Given the description of an element on the screen output the (x, y) to click on. 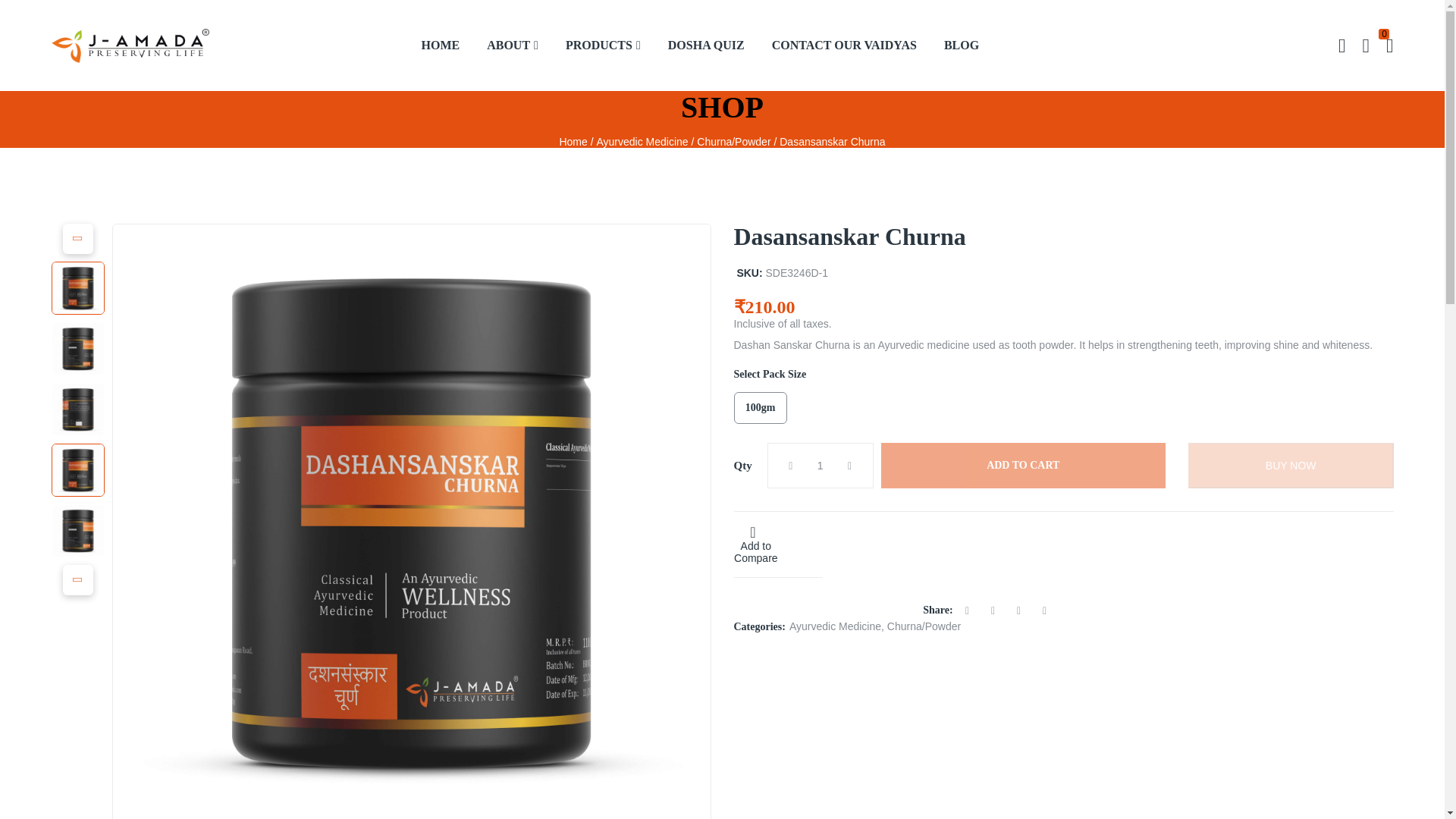
My Account (1365, 45)
1 (819, 465)
CONTACT OUR VAIDYAS (844, 45)
Exclusive Mockups for Branding and Packaging Design (77, 348)
Search (1342, 45)
Exclusive Mockups for Branding and Packaging Design (77, 287)
PRODUCTS (602, 45)
Exclusive Mockups for Branding and Packaging Design (77, 409)
DOSHA QUIZ (705, 45)
Exclusive Mockups for Branding and Packaging Design (77, 530)
Exclusive Mockups for Branding and Packaging Design (77, 469)
